Given the description of an element on the screen output the (x, y) to click on. 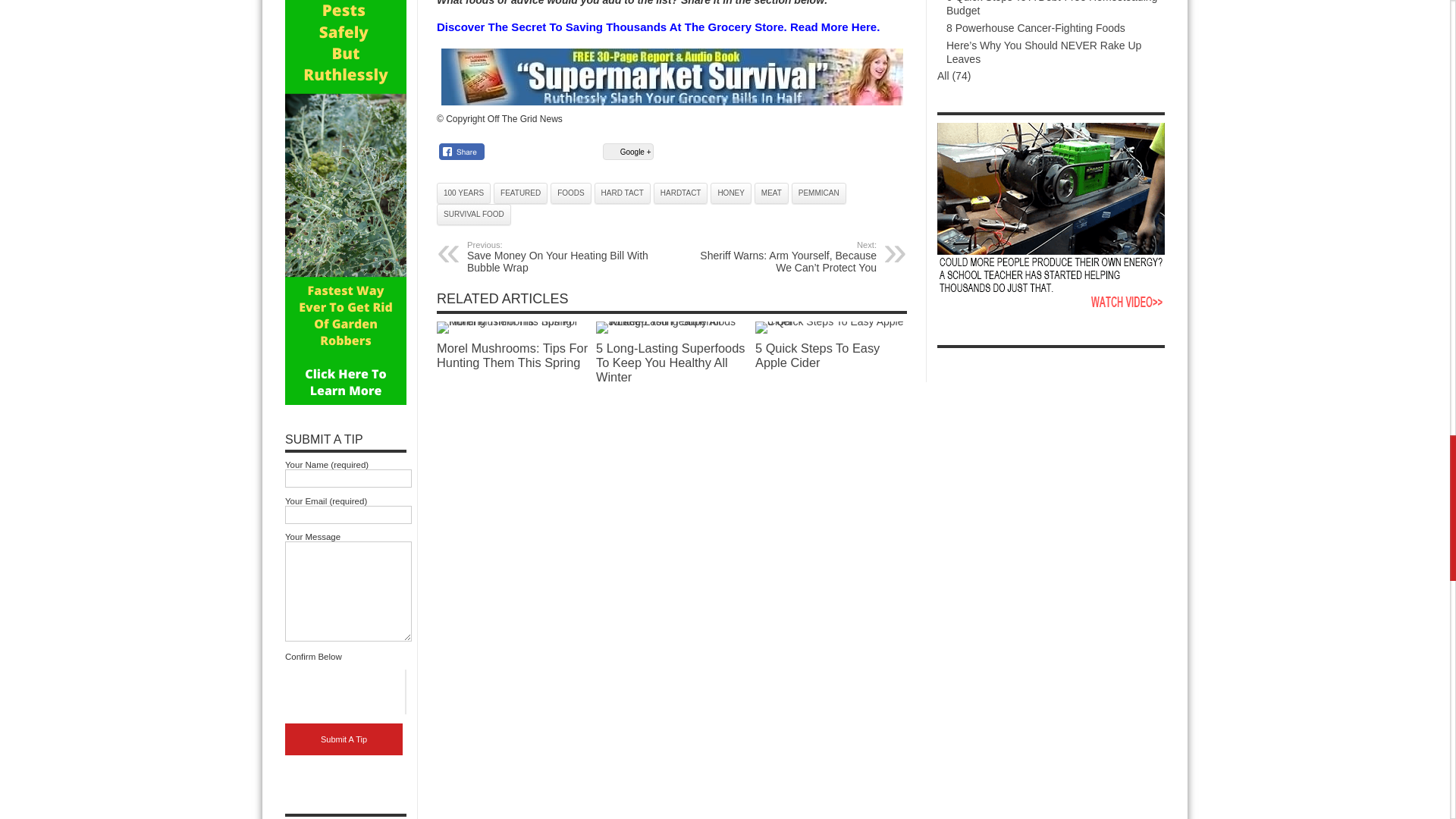
supermarket-survival (671, 76)
Permalink to 5 Quick Steps To Easy Apple Cider (831, 321)
5 Long-Lasting Superfoods To Keep You Healthy All Winter (671, 327)
Morel Mushrooms: Tips For Hunting Them This Spring (512, 327)
Submit A Tip (344, 739)
